Given the description of an element on the screen output the (x, y) to click on. 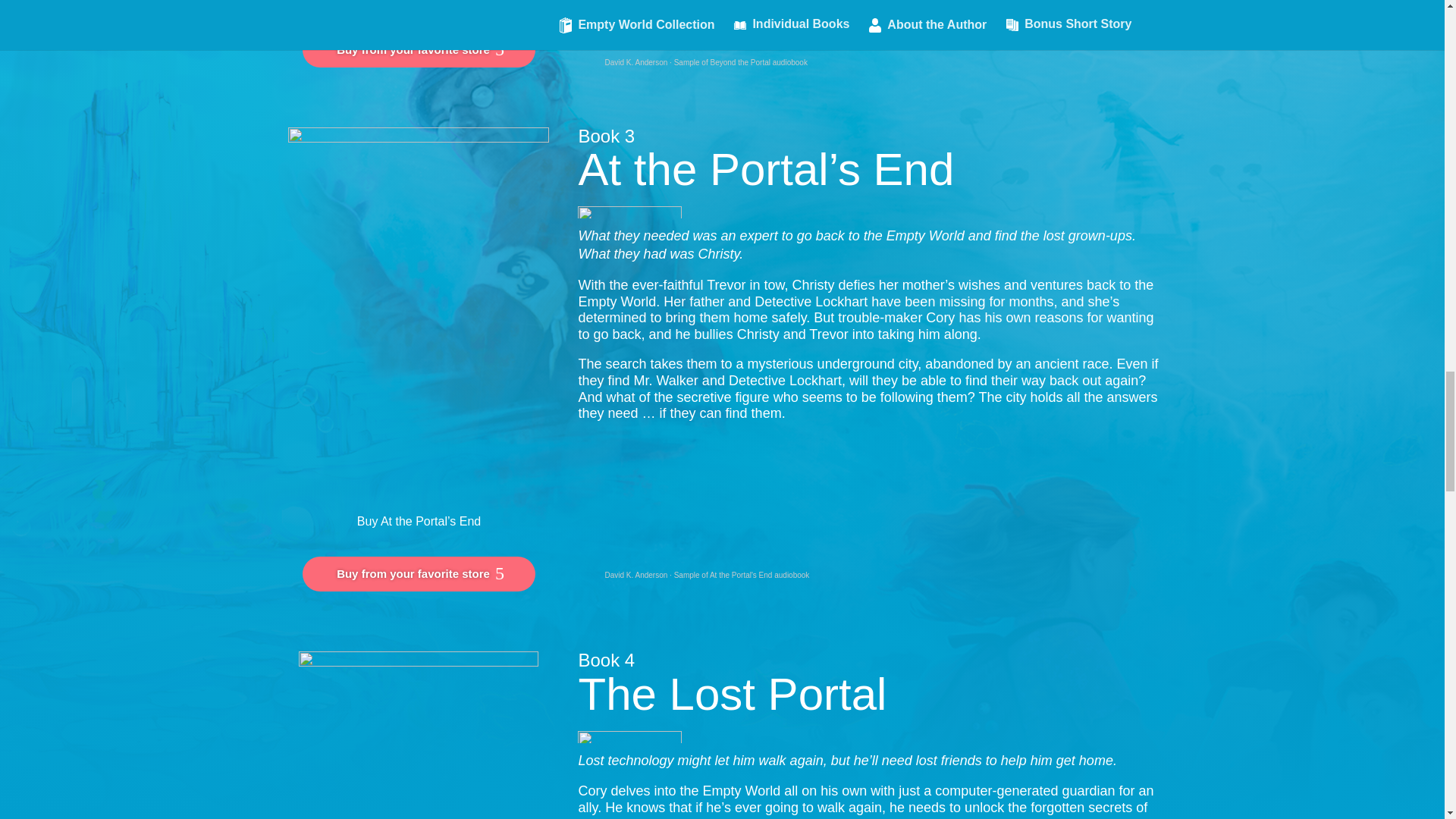
Sample of Beyond the Portal audiobook (741, 62)
Sample of At the Portal's End audiobook (741, 574)
Untitled-2-2 (629, 212)
Buy from your favorite store (418, 573)
Buy from your favorite store (418, 49)
Sample of Beyond the Portal audiobook (741, 62)
Sample of At the Portal's End audiobook (741, 574)
David K. Anderson (635, 574)
Untitled-2-2 (629, 736)
David K. Anderson (635, 574)
